Given the description of an element on the screen output the (x, y) to click on. 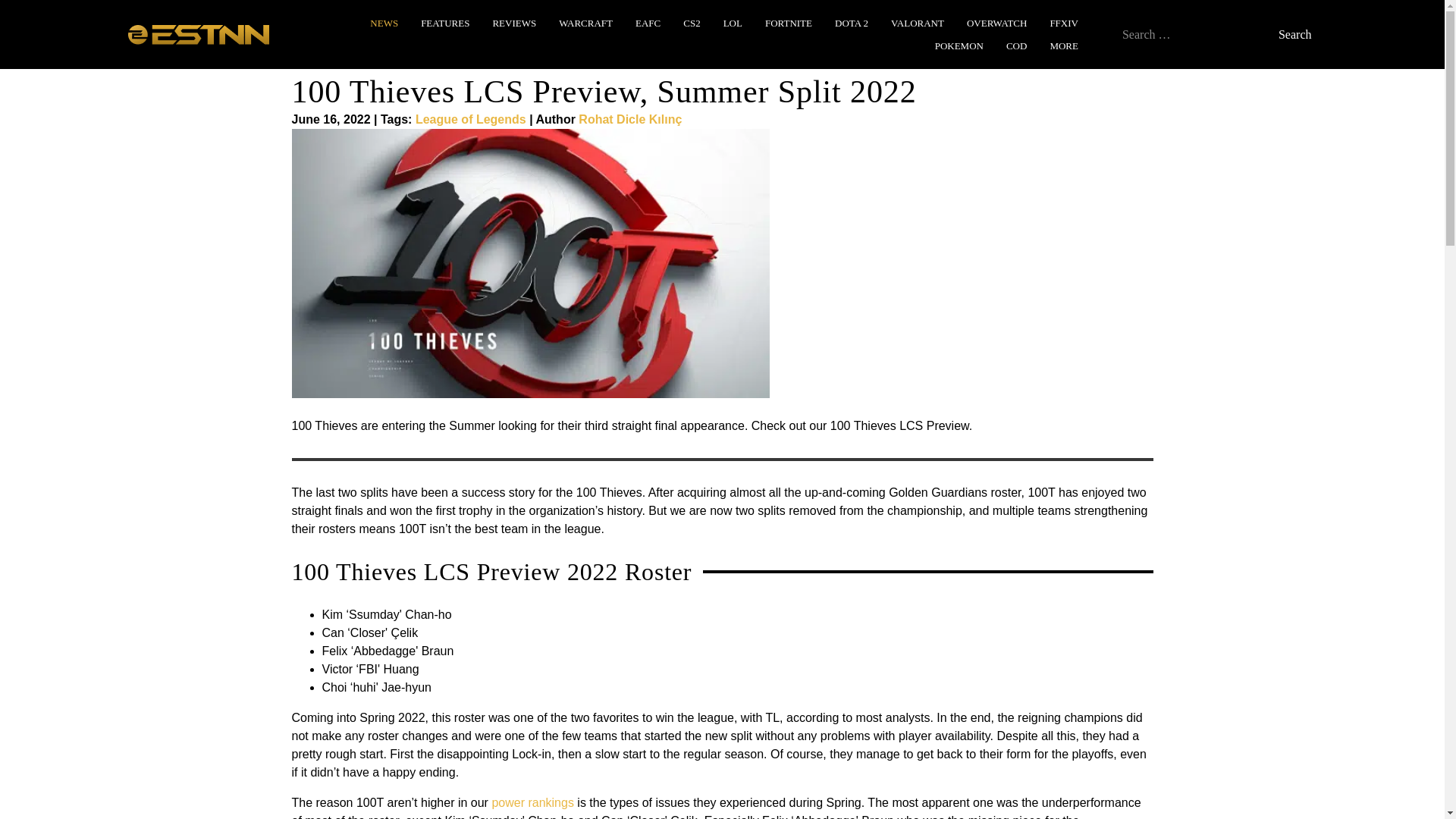
WARCRAFT (585, 23)
EAFC (647, 23)
POKEMON (959, 45)
Search (1294, 33)
FEATURES (445, 23)
OVERWATCH (996, 23)
FFXIV (1064, 23)
Search (1294, 33)
power rankings (532, 802)
VALORANT (917, 23)
FORTNITE (788, 23)
DOTA 2 (851, 23)
Search (1294, 33)
League of Legends (469, 119)
COD (1015, 45)
